Given the description of an element on the screen output the (x, y) to click on. 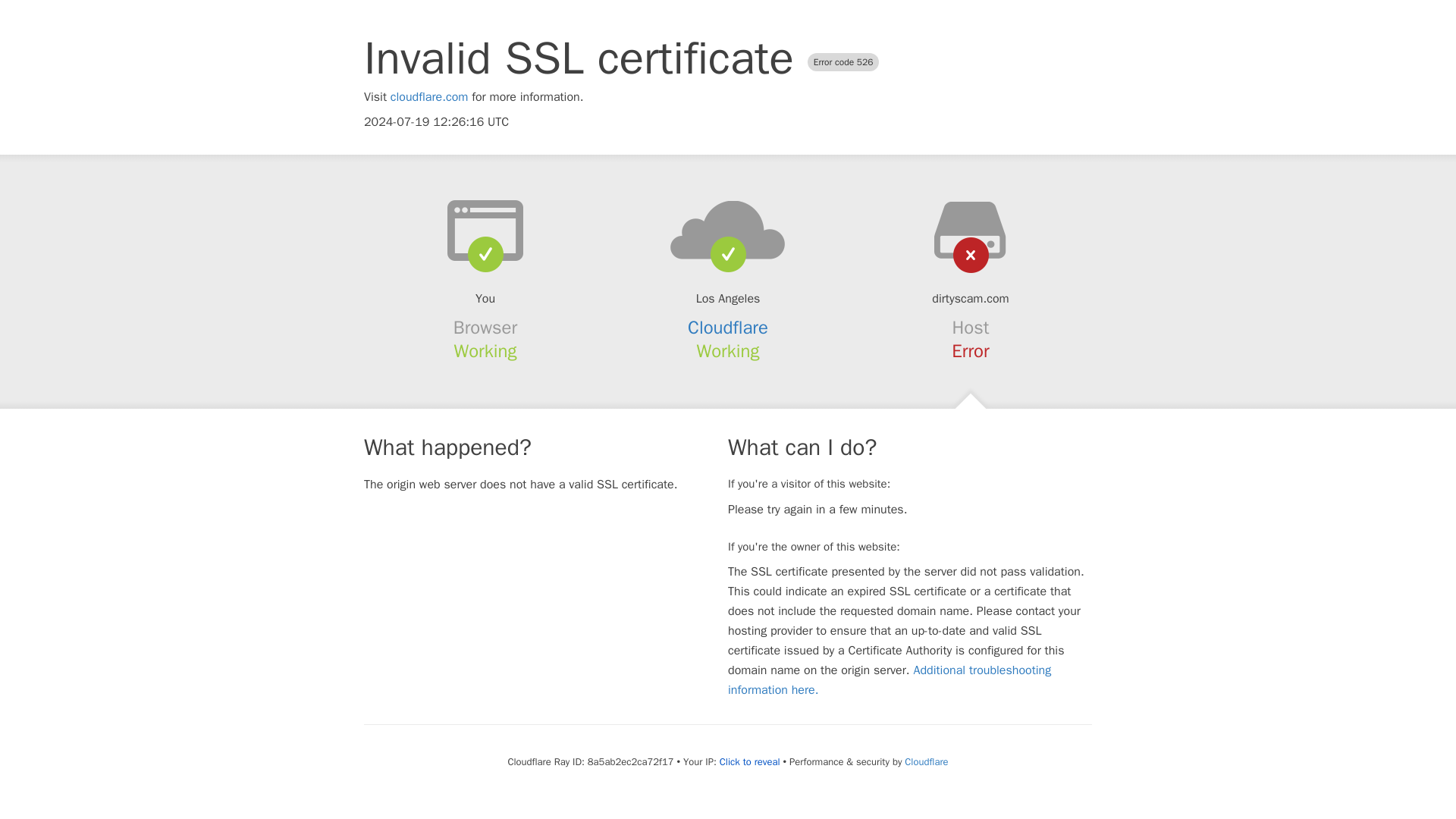
Cloudflare (727, 327)
Click to reveal (749, 762)
Additional troubleshooting information here. (889, 679)
cloudflare.com (429, 96)
Cloudflare (925, 761)
